Given the description of an element on the screen output the (x, y) to click on. 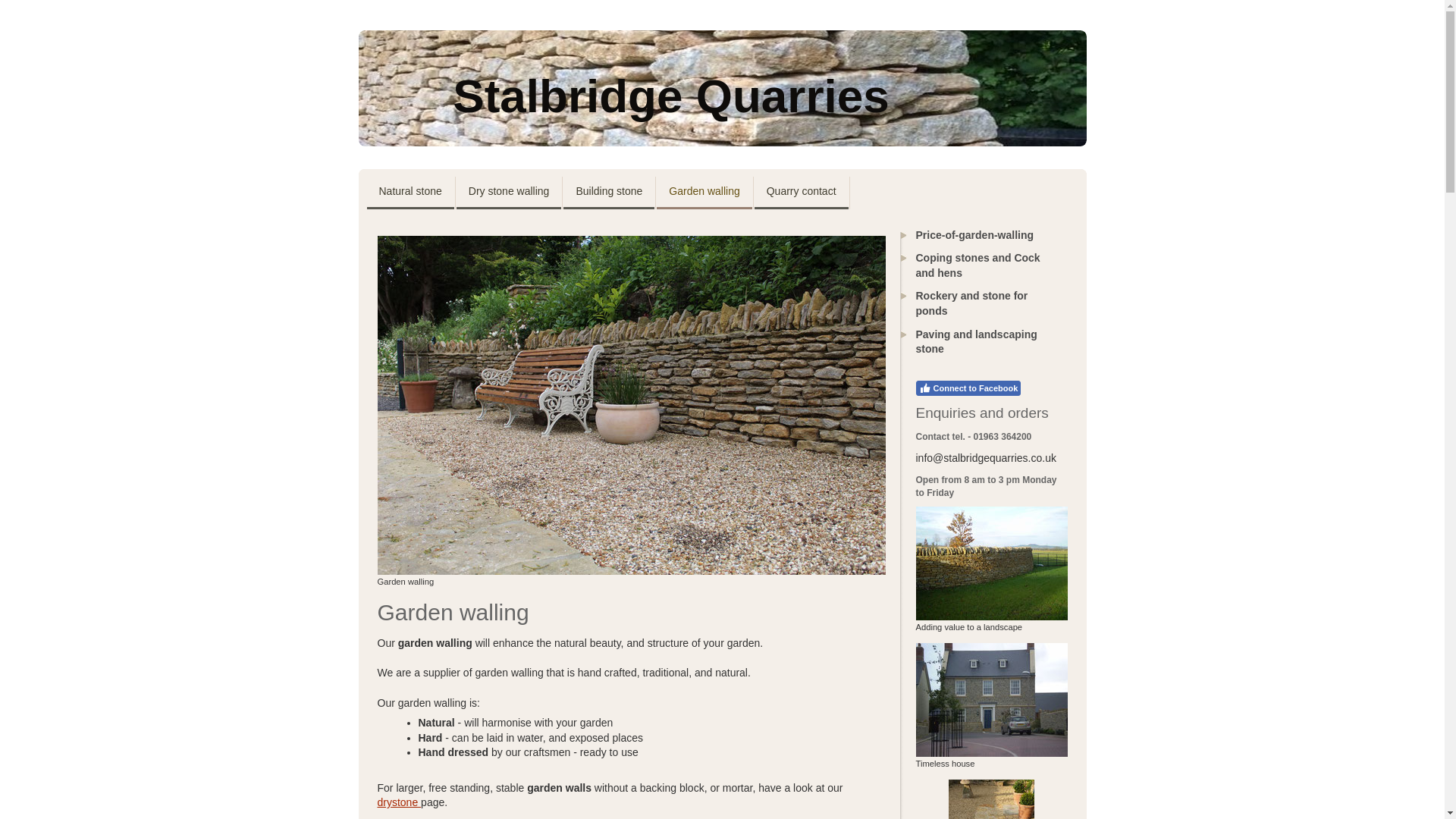
drystone  (399, 802)
Price-of-garden-walling (980, 239)
Rockery and stone for ponds (980, 307)
Drystone walling (399, 802)
Paving and landscaping stone (980, 346)
Dry stone walling (509, 192)
Connect to Facebook (968, 387)
Stalbridge Quarries (722, 88)
Coping stones and Cock and hens (980, 269)
Quarry contact (801, 192)
Building stone (608, 192)
Natural stone (410, 192)
Garden walling (703, 192)
